Given the description of an element on the screen output the (x, y) to click on. 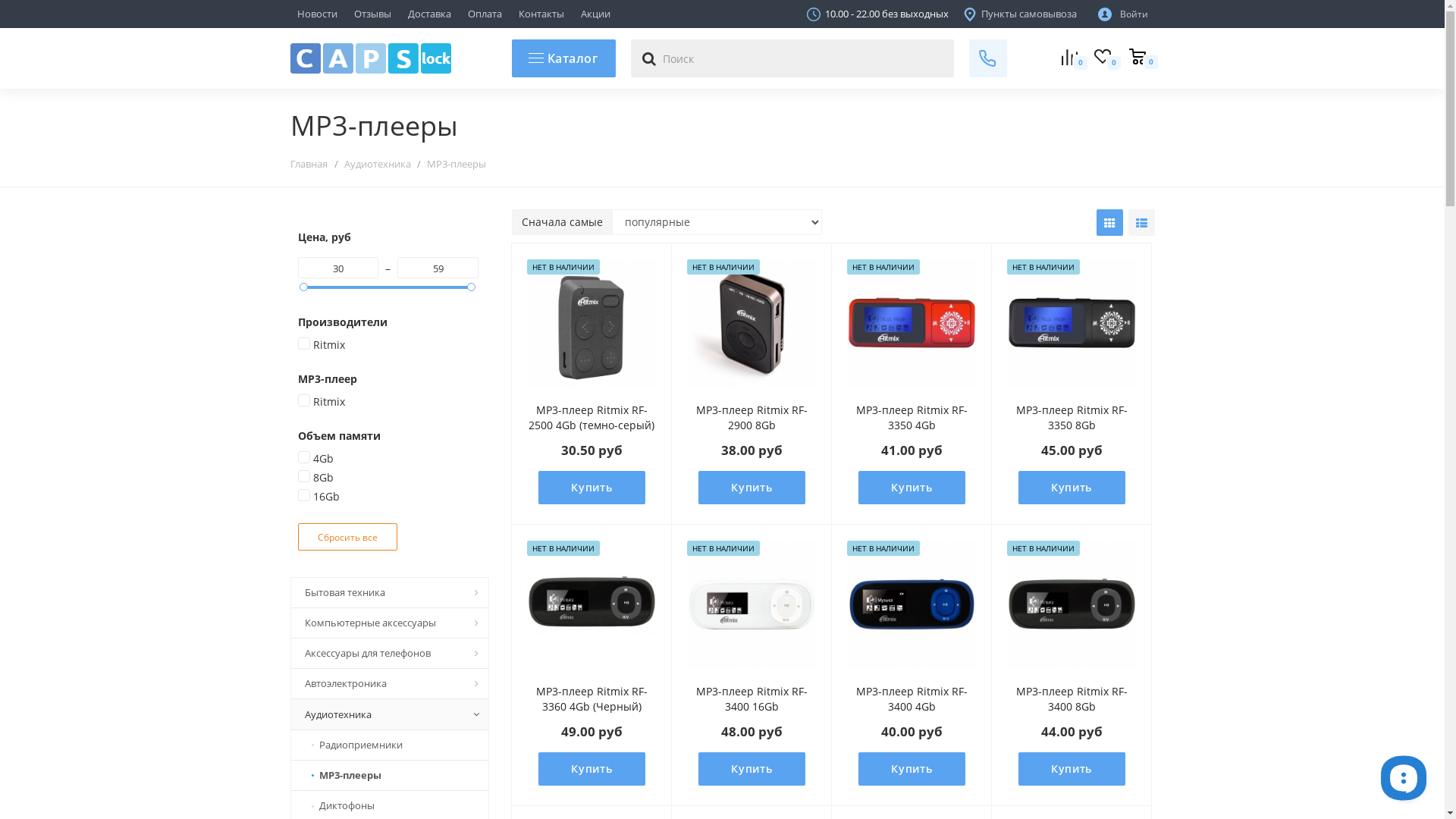
+375 44 769 78 68 Element type: text (976, 36)
0 Element type: text (1108, 58)
+375 29 634 59 23 Element type: text (688, 36)
capslock.by Element type: hover (369, 58)
+375 29 692 09 10 Element type: text (399, 36)
0 Element type: text (1075, 58)
0 Element type: text (1136, 58)
__replain_widget_iframe Element type: hover (1402, 776)
